Given the description of an element on the screen output the (x, y) to click on. 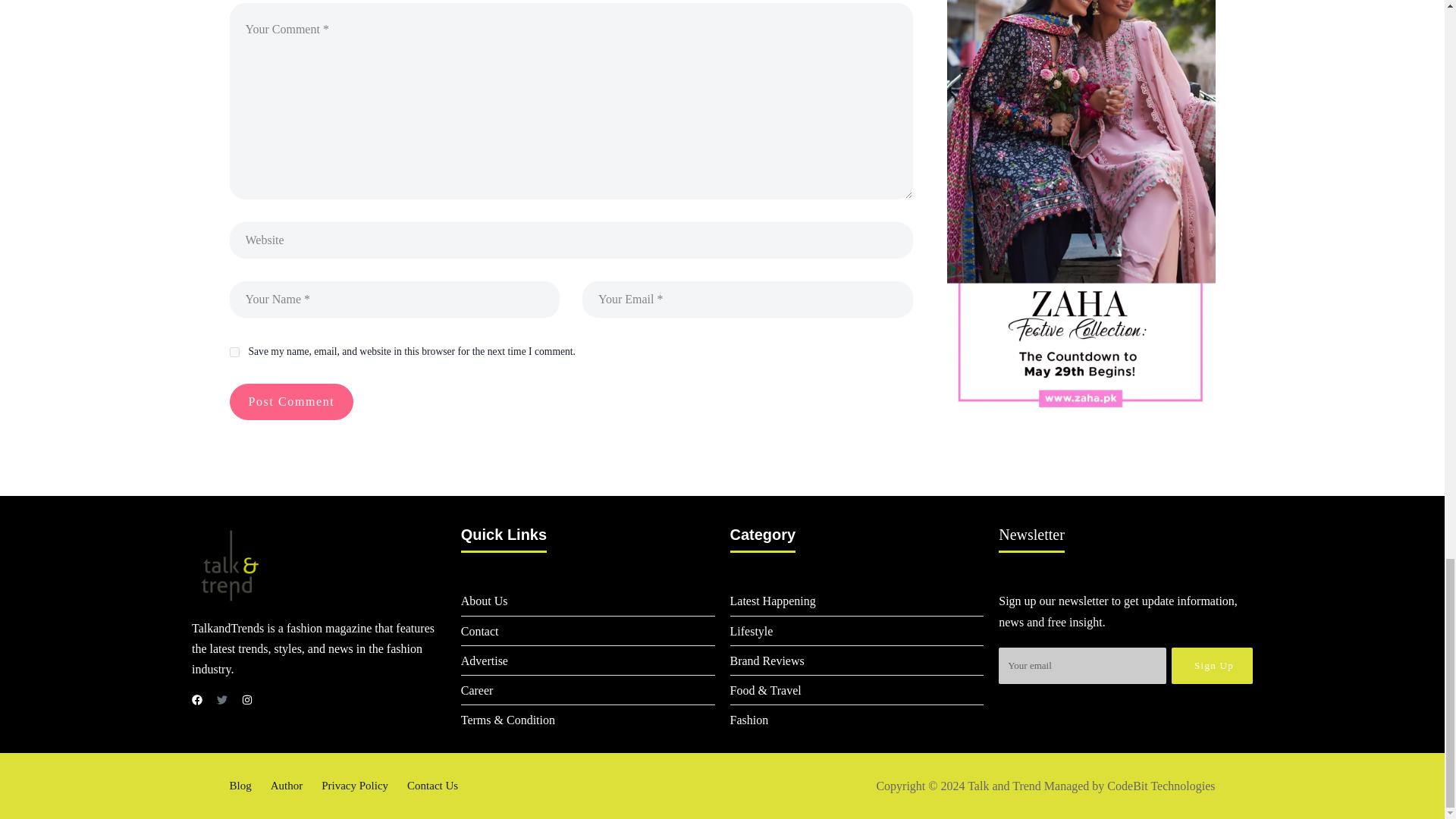
yes (233, 352)
Post Comment (290, 402)
